Given the description of an element on the screen output the (x, y) to click on. 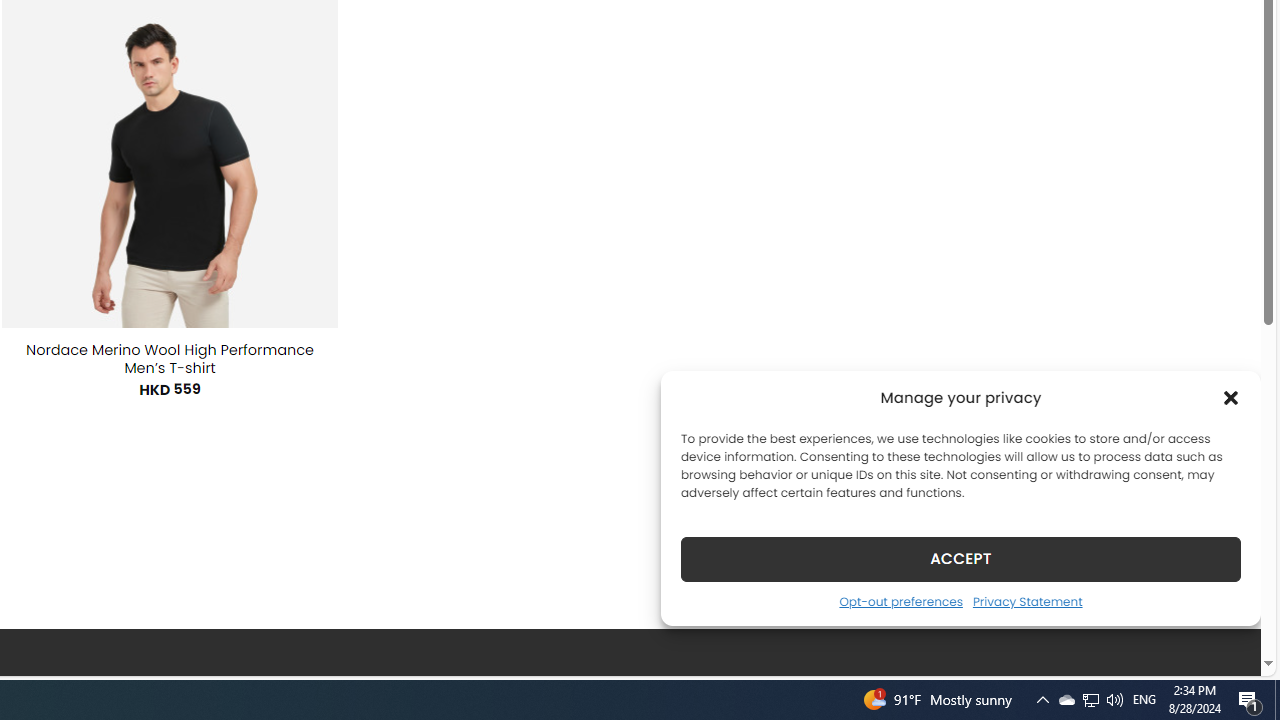
ACCEPT (960, 558)
Class: cmplz-close (1231, 397)
Go to top (1220, 647)
Privacy Statement (1026, 601)
Opt-out preferences (900, 601)
